Given the description of an element on the screen output the (x, y) to click on. 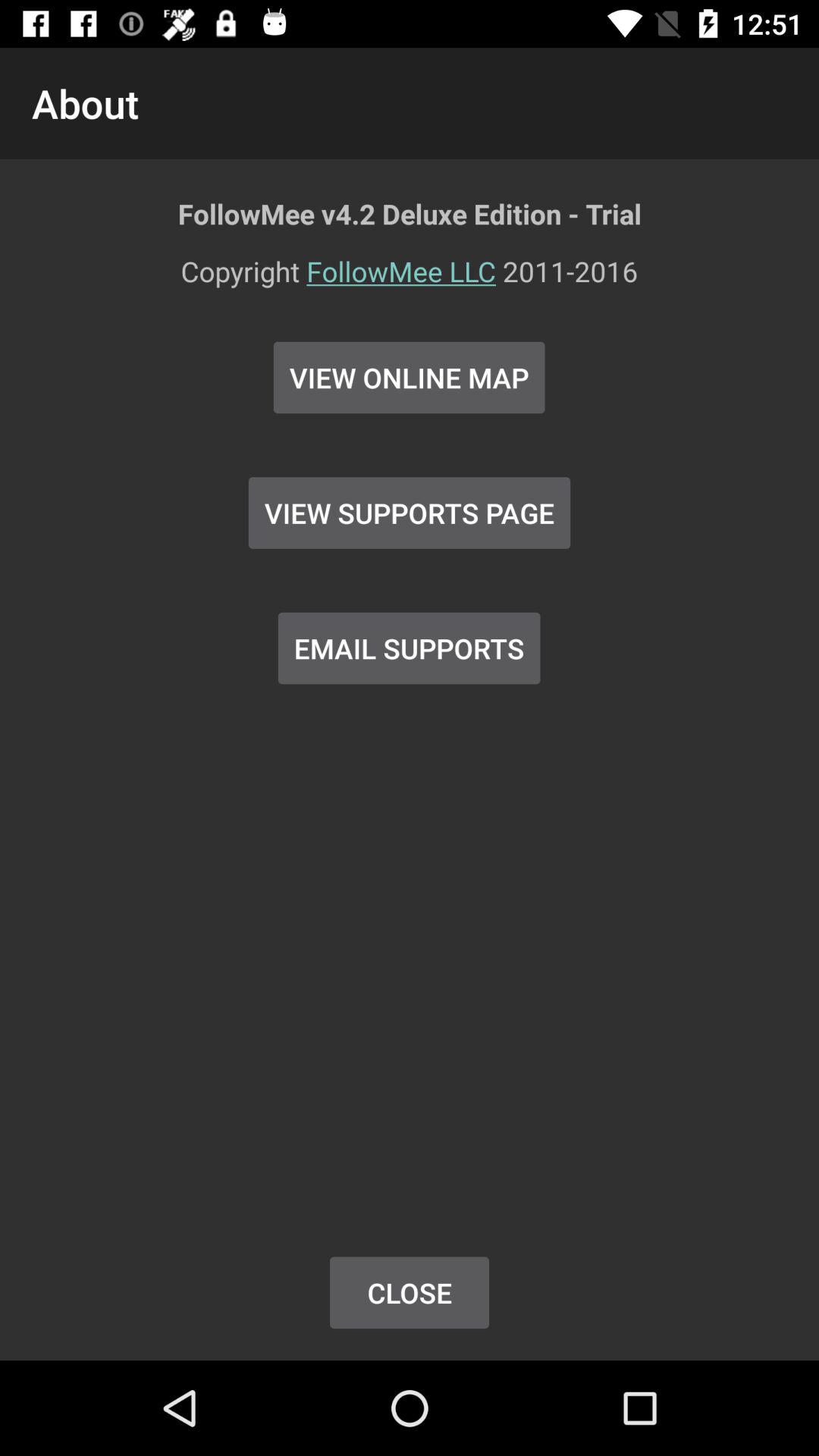
turn on button below view supports page item (409, 648)
